Given the description of an element on the screen output the (x, y) to click on. 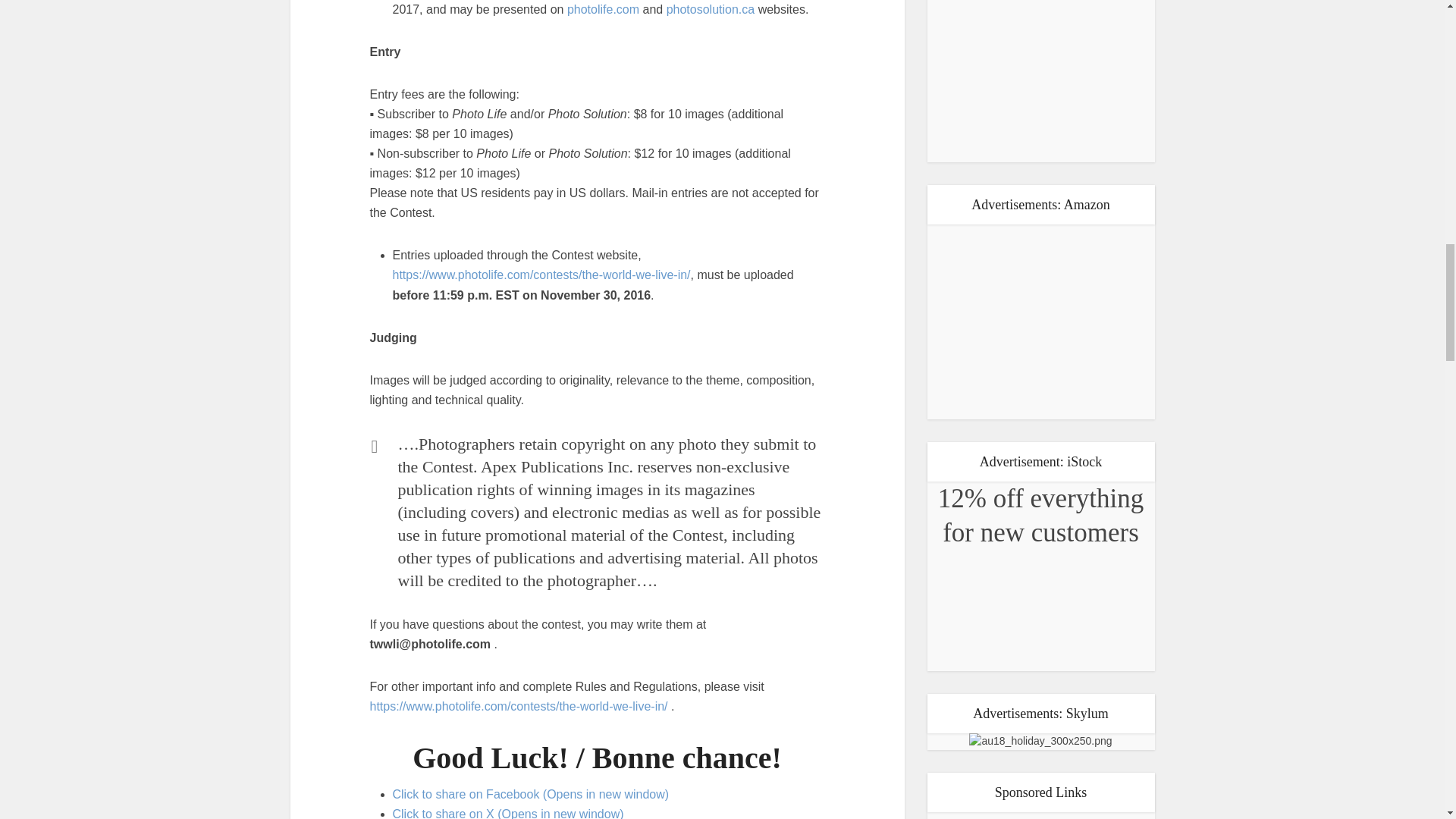
Click to share on X (508, 813)
Click to share on Facebook (531, 793)
photolife.com (603, 9)
photosolution.ca (710, 9)
